Given the description of an element on the screen output the (x, y) to click on. 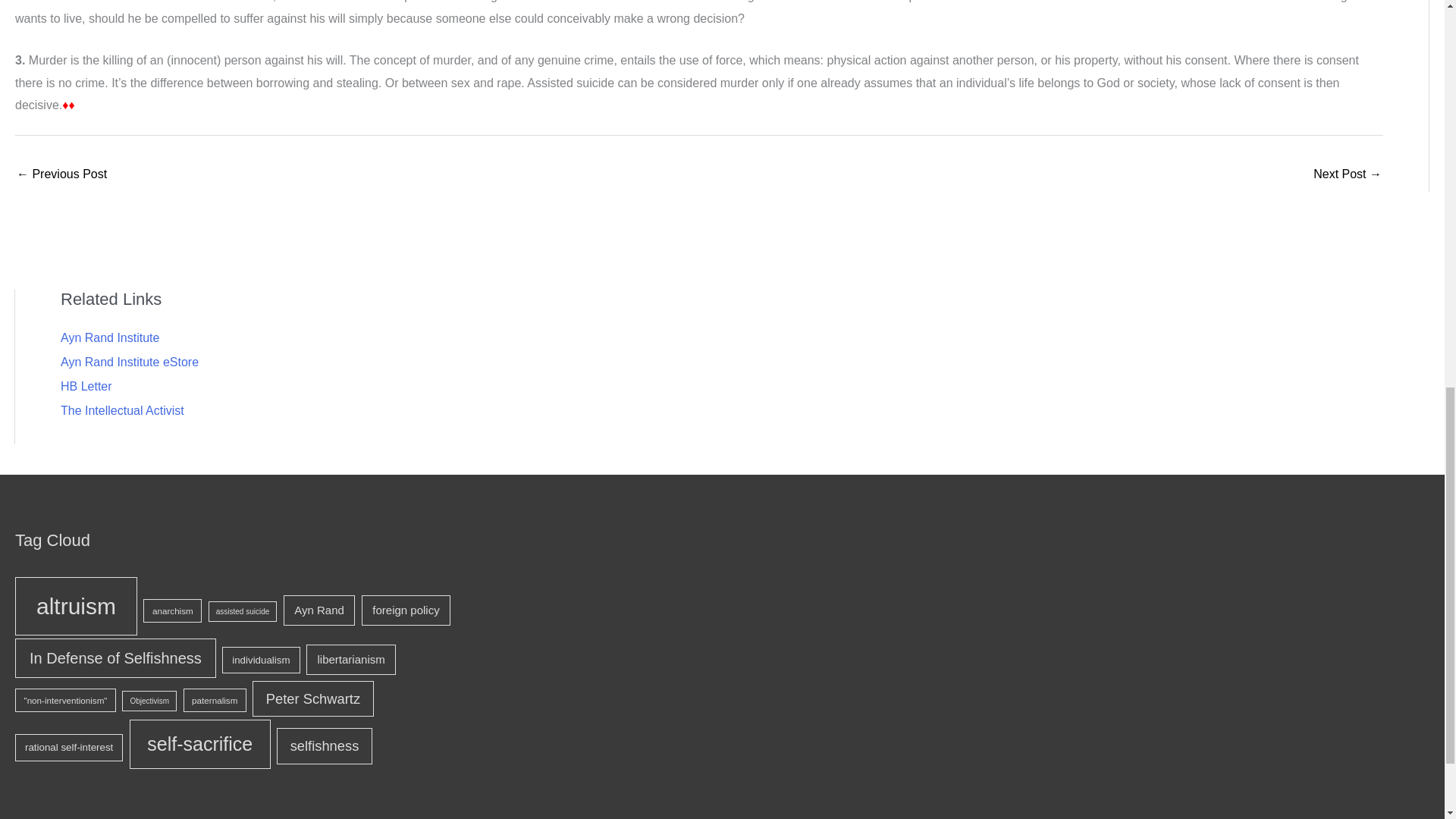
paternalism (214, 699)
assisted suicide (243, 611)
A Real Right to Life (61, 175)
Objectivism (149, 701)
foreign policy (405, 610)
Ayn Rand Institute eStore (129, 361)
Ayn Rand (319, 610)
The Intellectual Activist (122, 410)
5 topics (65, 699)
Ayn Rand Institute (109, 337)
7 topics (350, 659)
rational self-interest (68, 746)
Peter Schwartz (311, 698)
libertarianism (350, 659)
7 topics (319, 610)
